Given the description of an element on the screen output the (x, y) to click on. 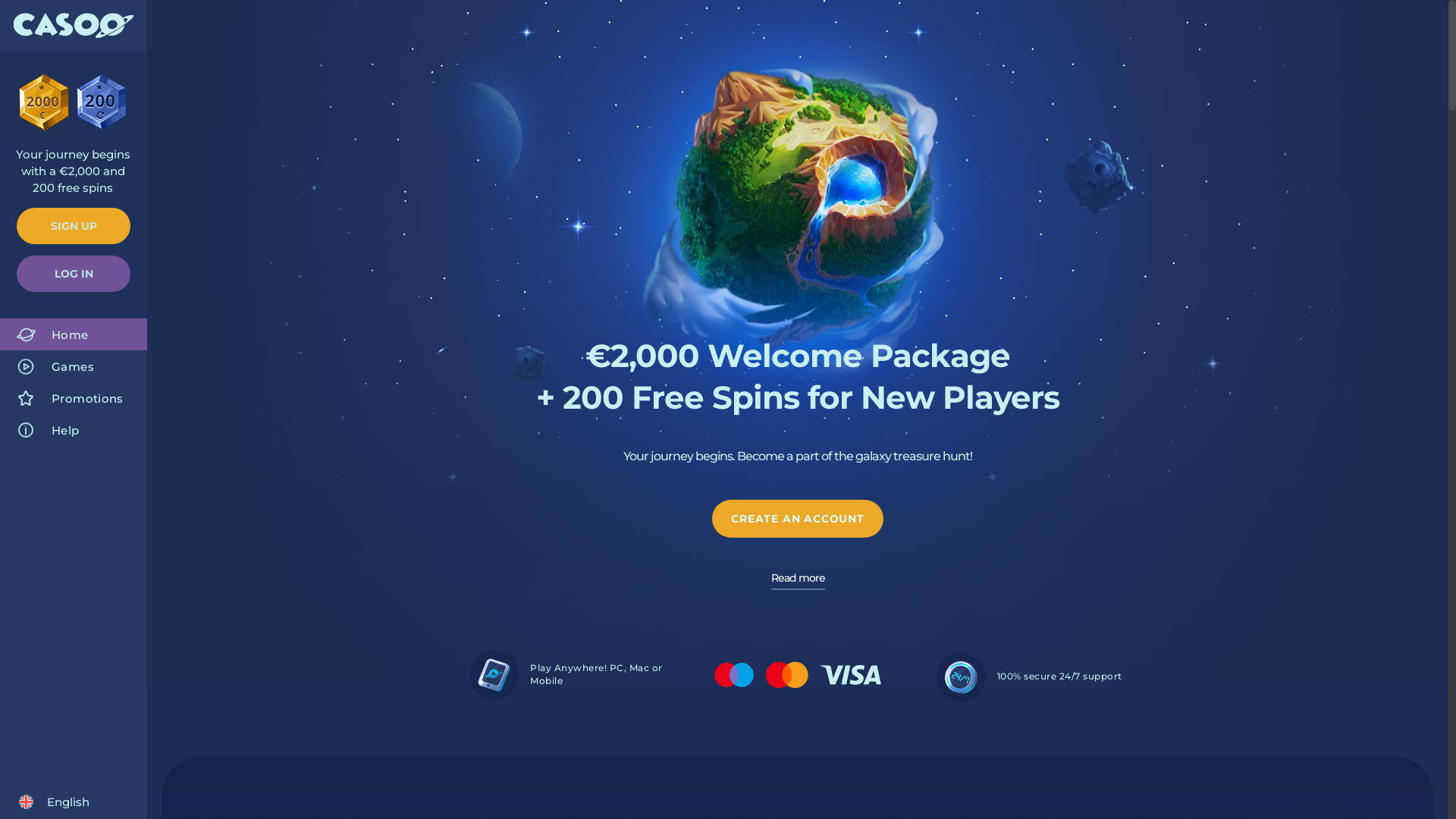
Promotions Element type: text (73, 398)
Help Element type: text (73, 429)
English Element type: text (52, 801)
CREATE AN ACCOUNT Element type: text (797, 518)
Games Element type: text (73, 366)
Read more Element type: text (797, 580)
Home Element type: text (73, 334)
SIGN UP Element type: text (73, 225)
LOG IN Element type: text (73, 273)
